Given the description of an element on the screen output the (x, y) to click on. 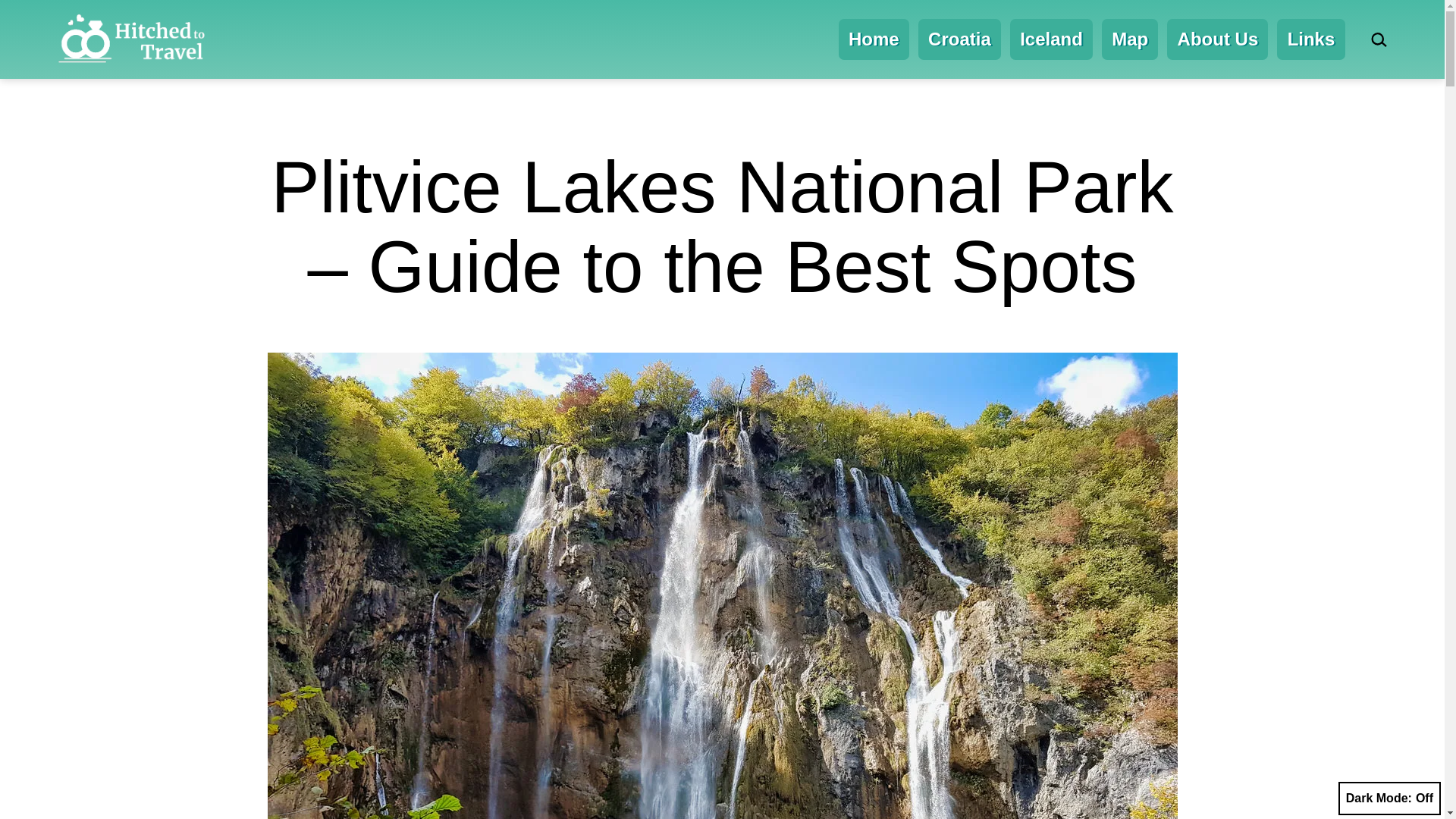
Croatia (959, 38)
Map (1129, 38)
Links (1309, 38)
Iceland (1051, 38)
About Us (1217, 38)
Home (873, 38)
